Given the description of an element on the screen output the (x, y) to click on. 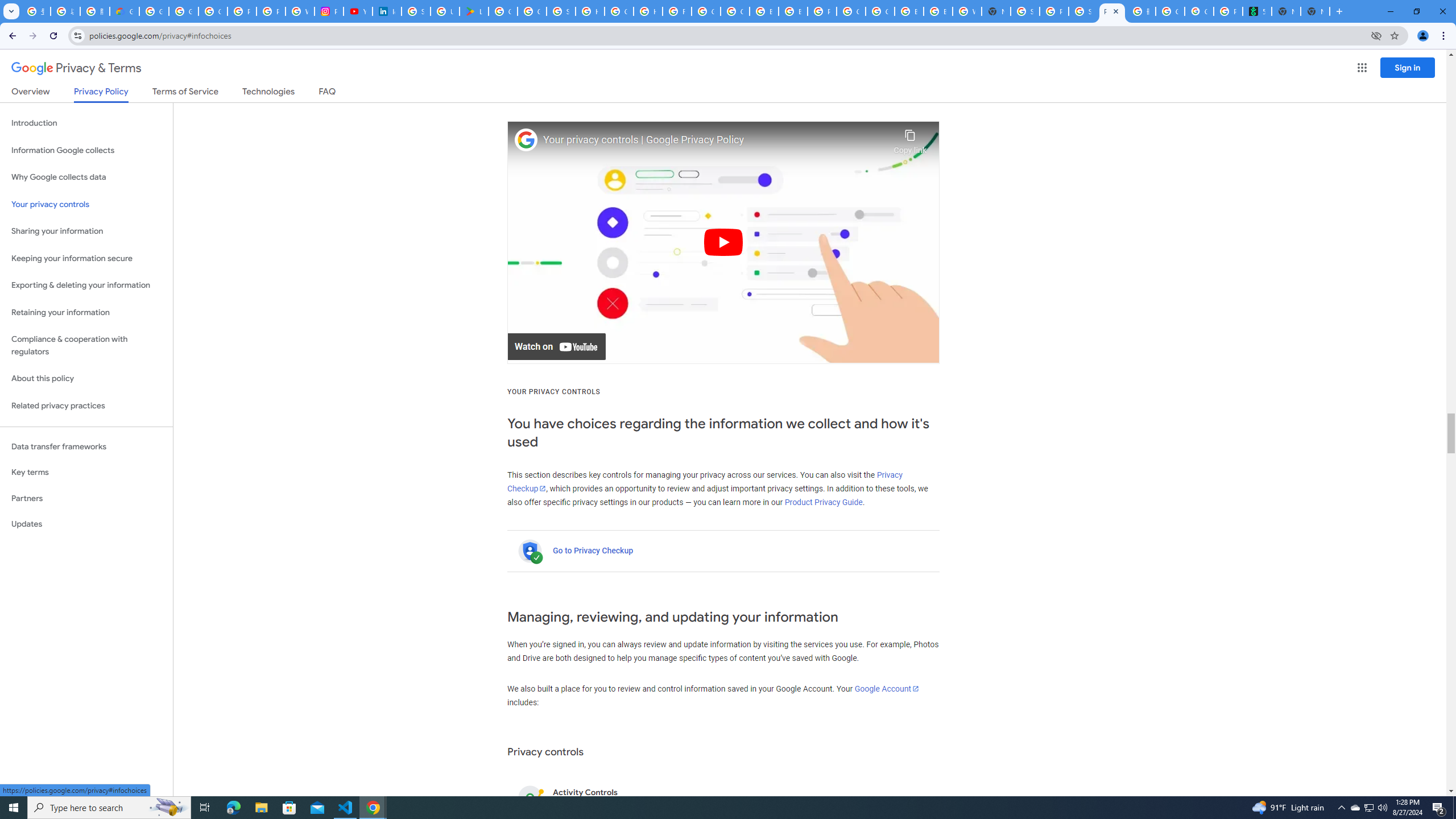
New Tab (996, 11)
Introduction (86, 122)
